Given the description of an element on the screen output the (x, y) to click on. 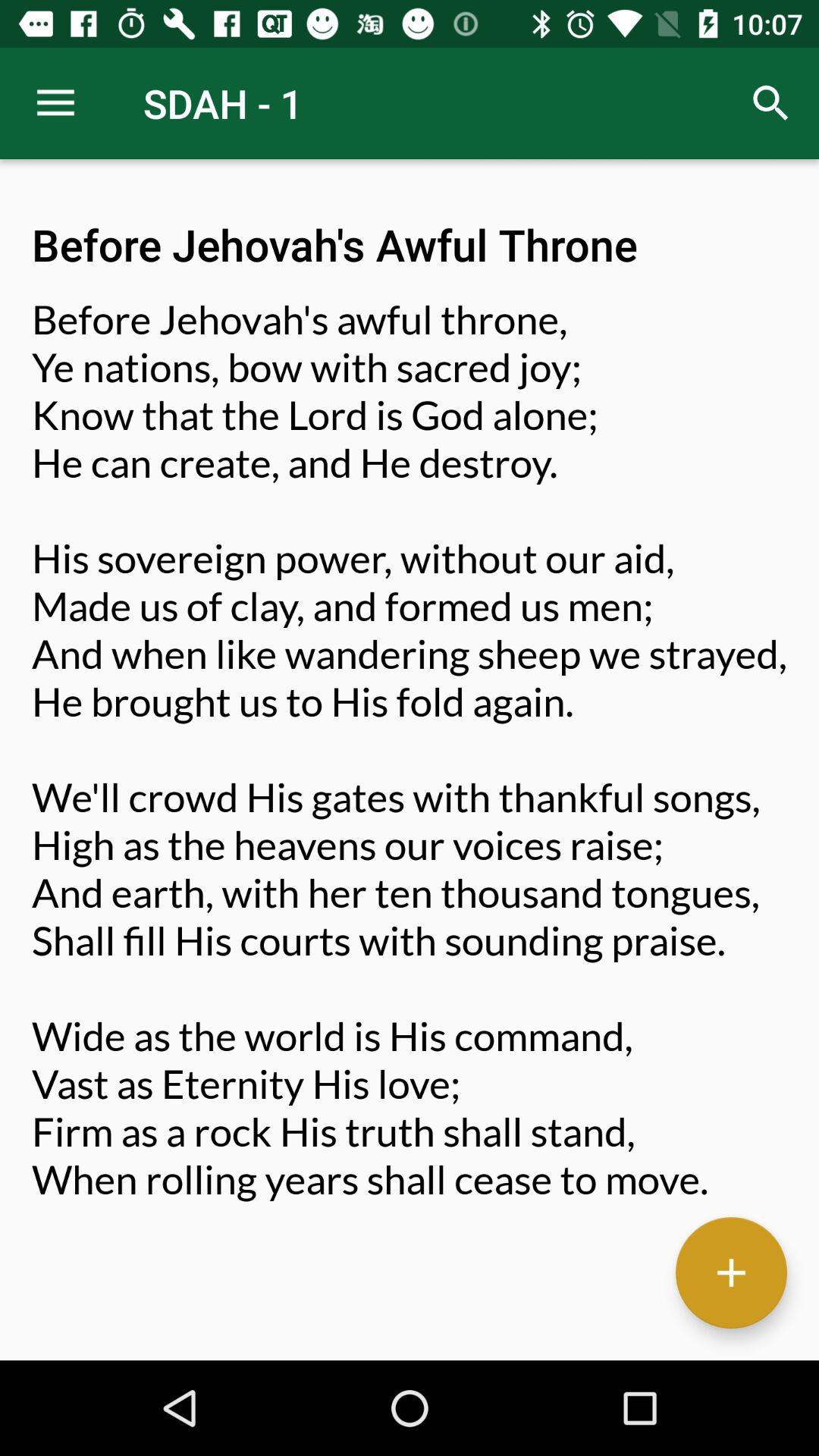
choose the item next to sdah - 1 (771, 103)
